Given the description of an element on the screen output the (x, y) to click on. 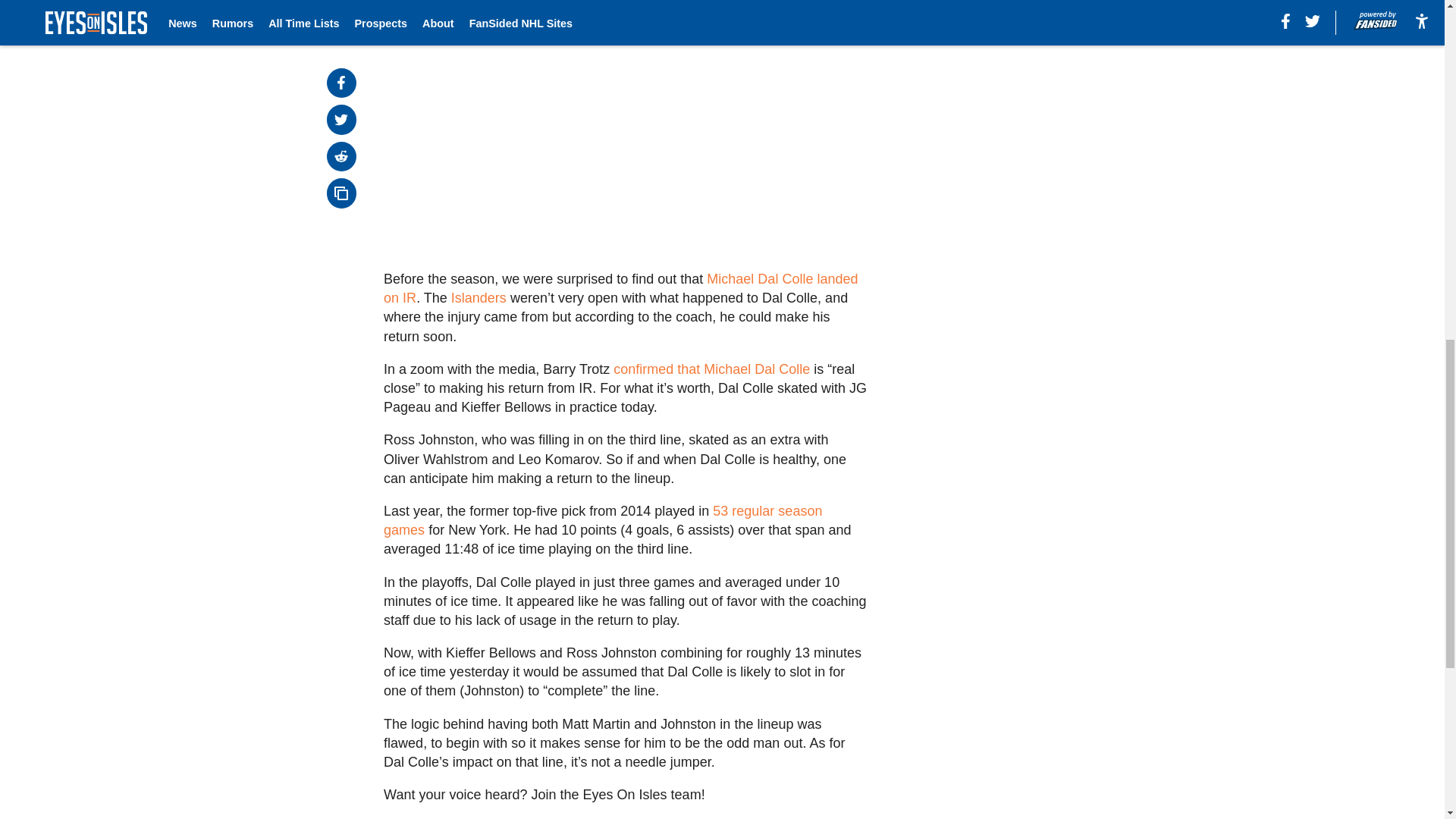
confirmed that Michael Dal Colle (710, 368)
Michael Dal Colle landed on IR (620, 288)
Islanders (478, 297)
53 regular season games (603, 520)
